Given the description of an element on the screen output the (x, y) to click on. 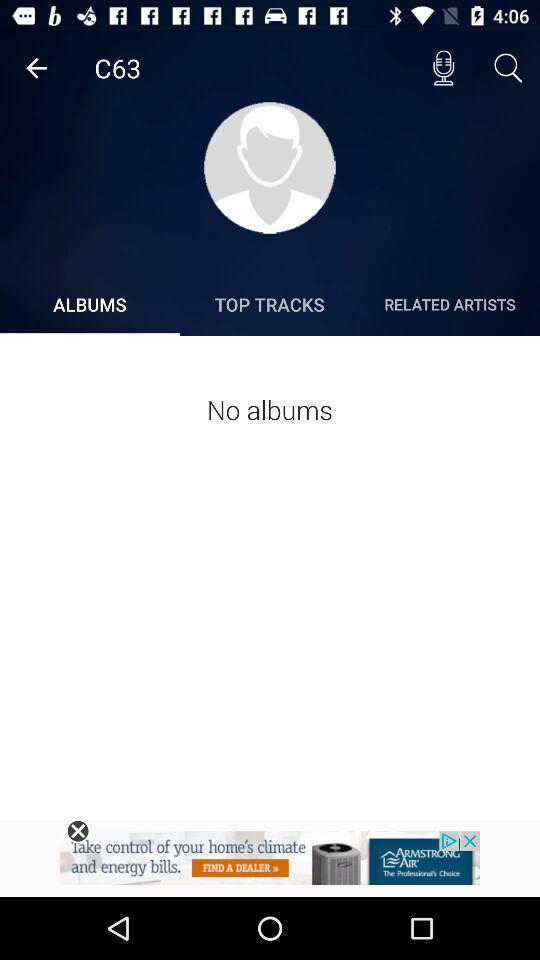
navigate to the advertisement (270, 864)
